Given the description of an element on the screen output the (x, y) to click on. 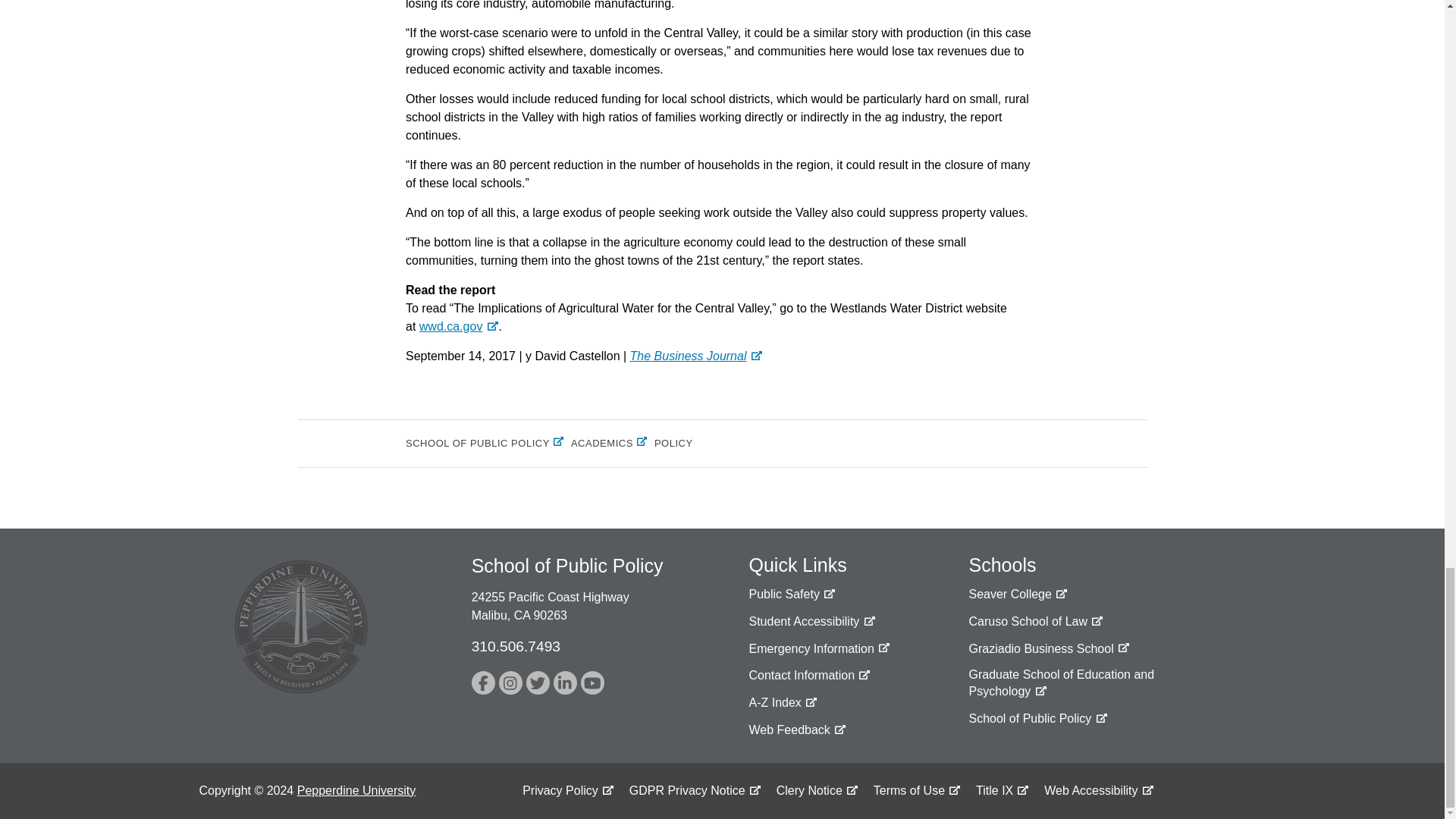
Call (515, 646)
Link to External Site (510, 682)
Link to External Site (537, 682)
Link to External Site (790, 594)
Link to External Site (1048, 648)
Link to External Site (1035, 621)
Link to External Site (459, 326)
Go to School of Public Policy site (1037, 718)
Link to External Site (796, 729)
Link to External Site (811, 621)
